Given the description of an element on the screen output the (x, y) to click on. 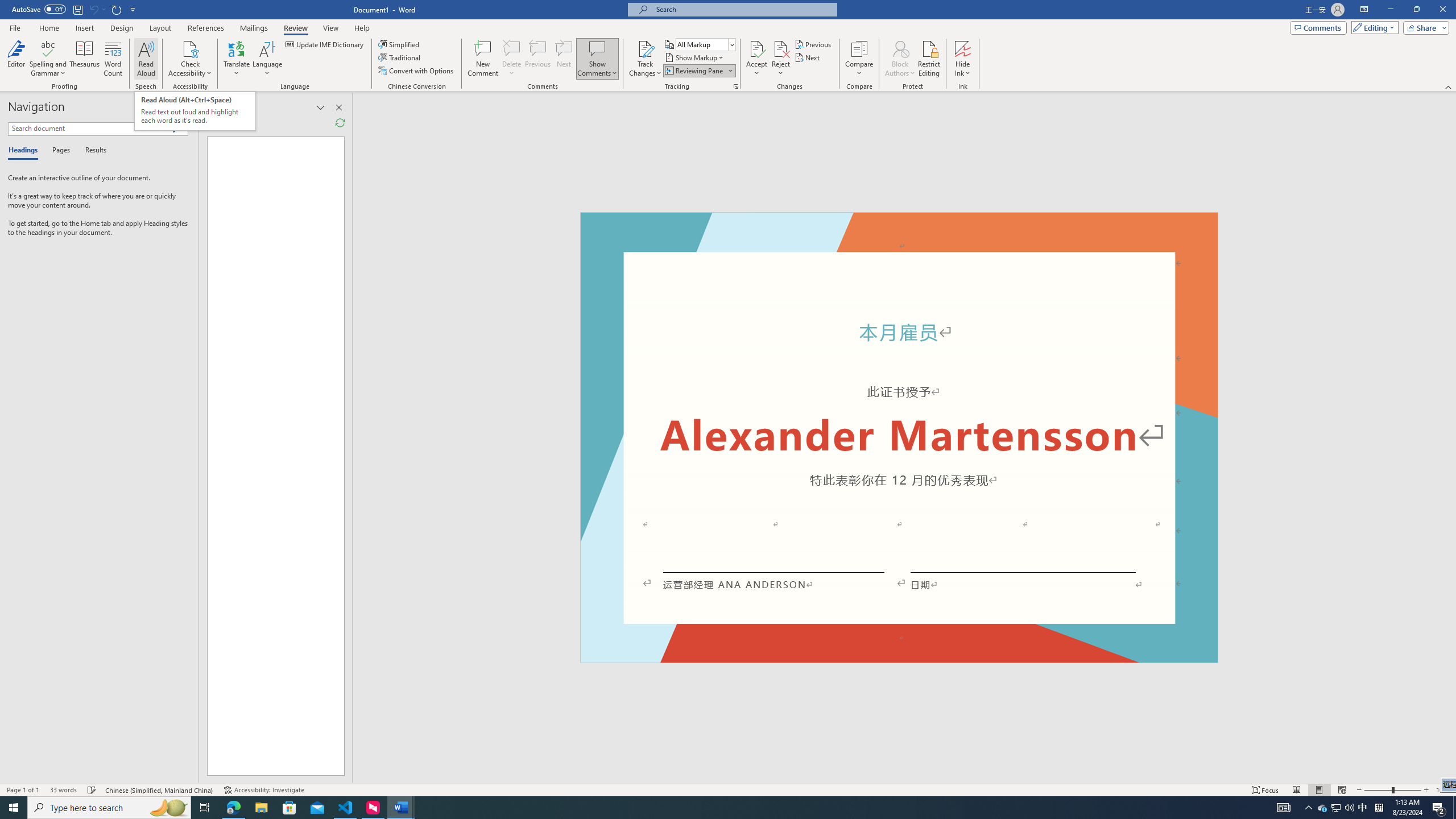
Simplified (400, 44)
Restrict Editing (929, 58)
Read Mode (1296, 790)
Class: NetUIScrollBar (1450, 437)
Hide Ink (962, 48)
Spelling and Grammar (48, 58)
Update IME Dictionary... (324, 44)
Repeat Doc Close (117, 9)
Traditional (400, 56)
Customize Quick Access Toolbar (133, 9)
Home (48, 28)
Header -Section 1- (898, 225)
Delete (511, 58)
